Given the description of an element on the screen output the (x, y) to click on. 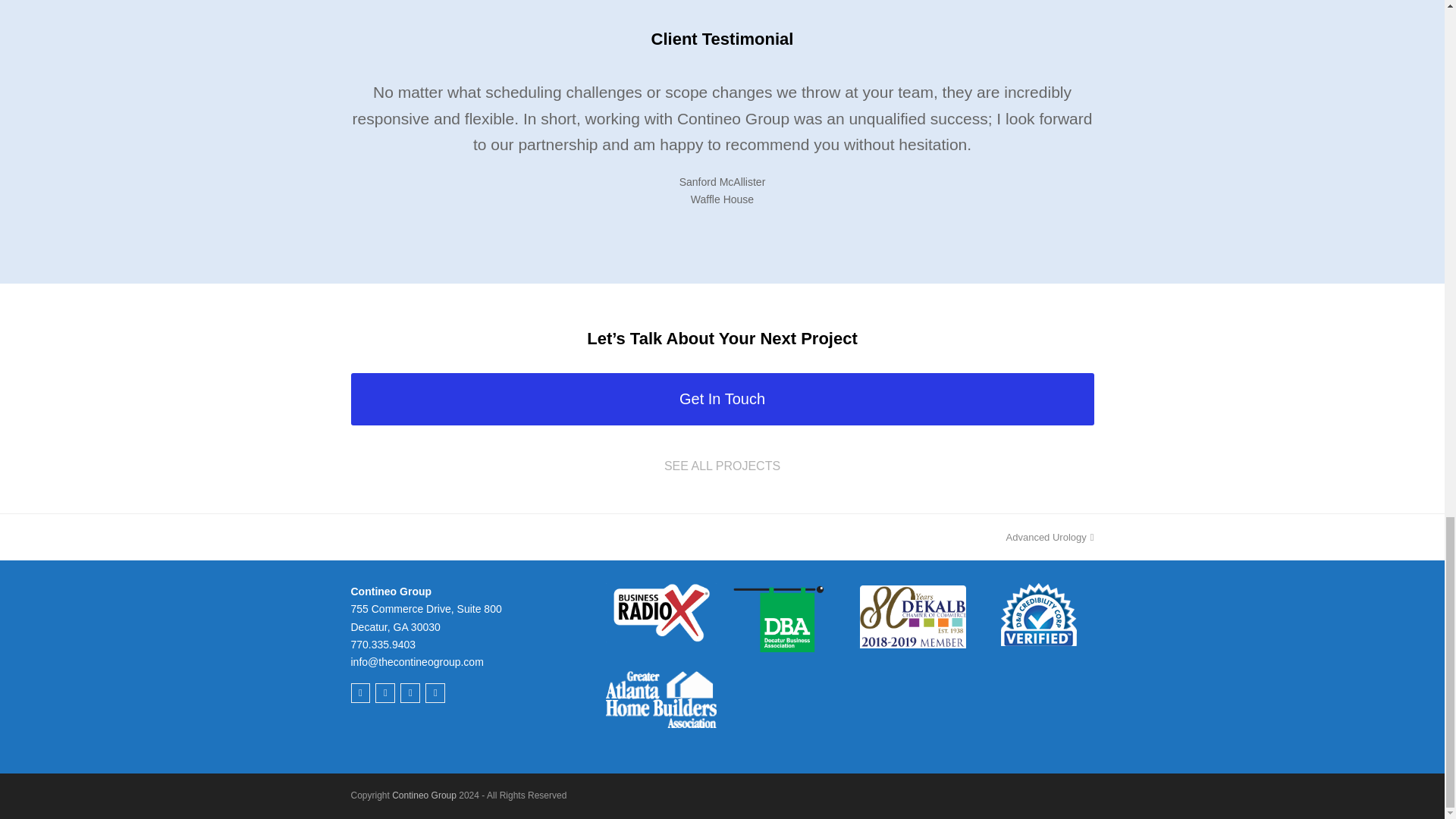
SEE ALL PROJECTS (721, 466)
twitter (410, 692)
instagram (435, 692)
Get In Touch (721, 399)
linkedin (1050, 536)
facebook (359, 692)
